Given the description of an element on the screen output the (x, y) to click on. 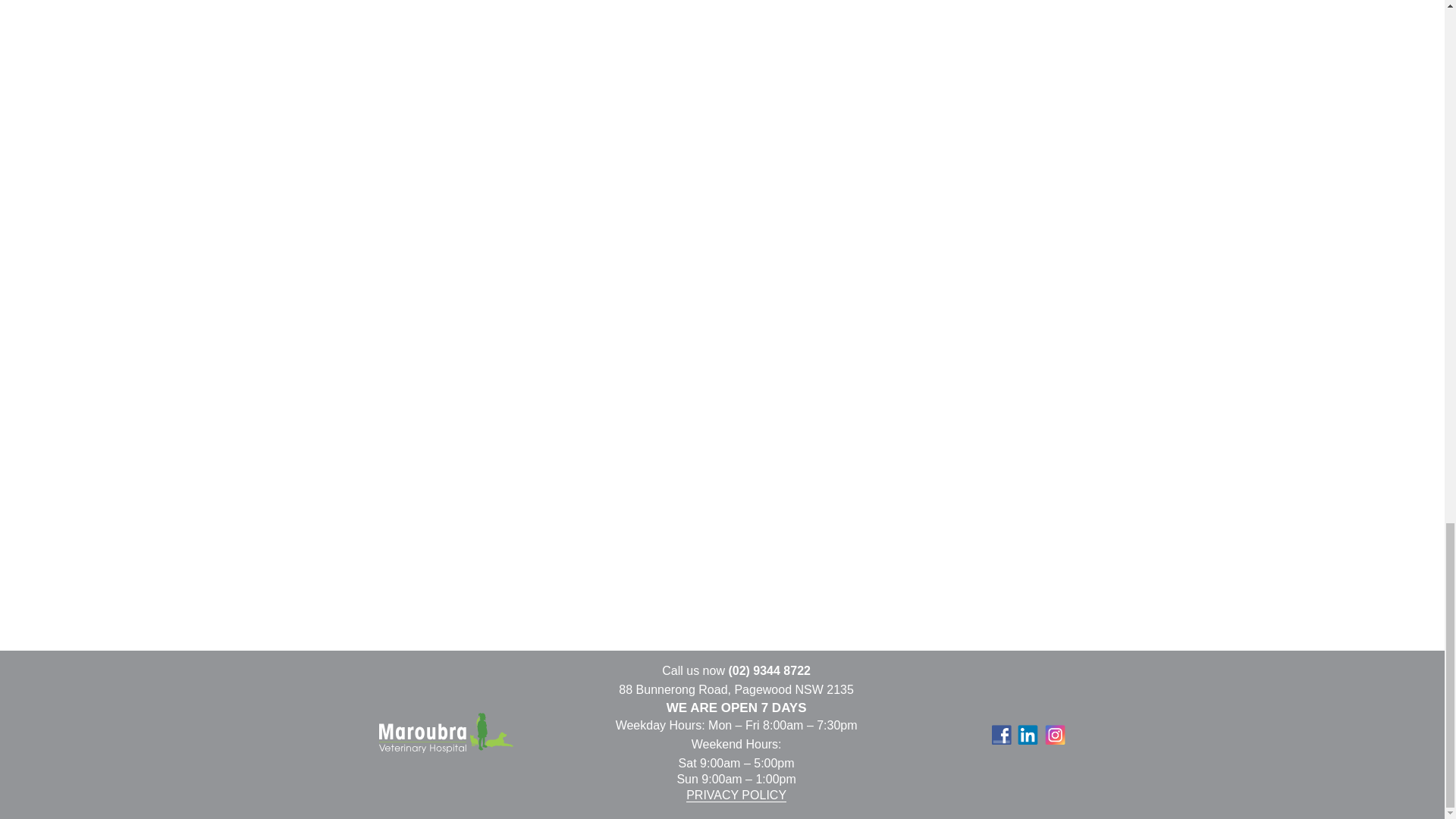
Privacy Policy (735, 795)
Call Us (769, 670)
PRIVACY POLICY (735, 795)
Maroubra Vet (445, 734)
